Given the description of an element on the screen output the (x, y) to click on. 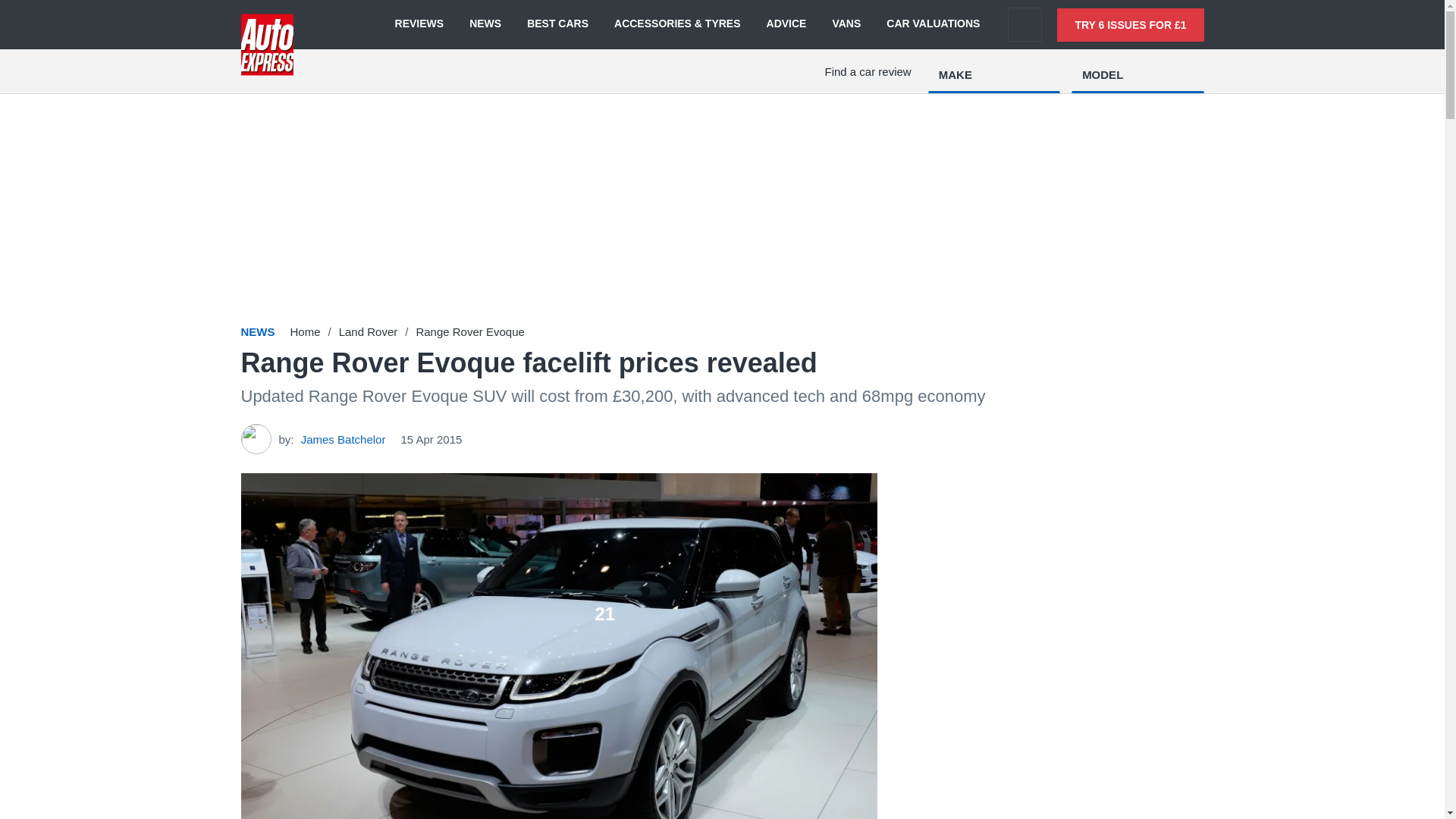
VANS (845, 24)
ADVICE (786, 24)
REVIEWS (419, 24)
CAR VALUATIONS (932, 24)
BEST CARS (557, 24)
NEWS (485, 24)
Search (1024, 24)
Search (1024, 24)
